Given the description of an element on the screen output the (x, y) to click on. 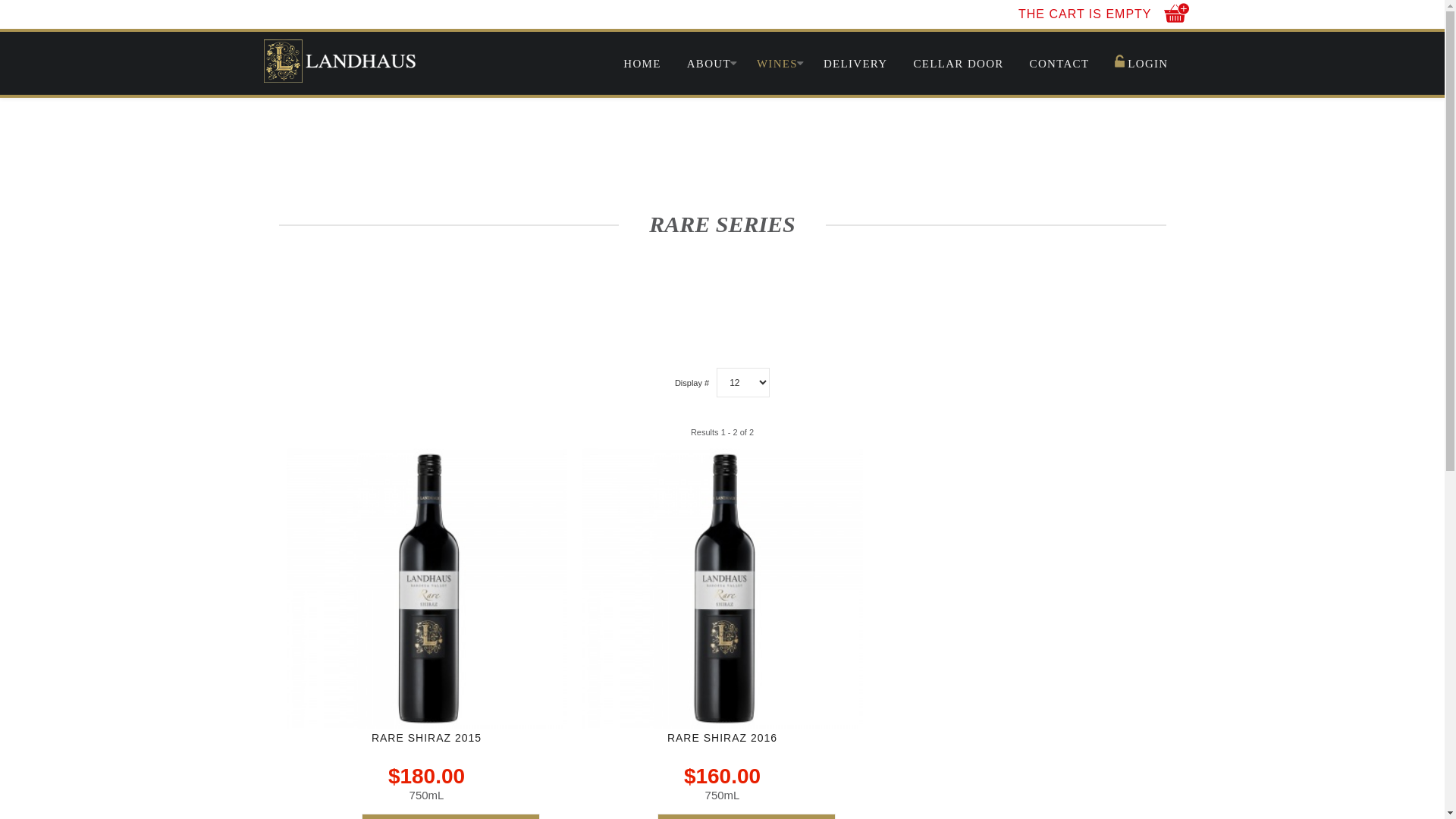
HOME Element type: text (648, 63)
Rare Shiraz 2016 Element type: hover (722, 588)
Rare Shiraz 2015 Element type: hover (426, 588)
RARE SHIRAZ 2015 Element type: text (426, 737)
RARE SHIRAZ 2016 Element type: text (722, 737)
CONTACT Element type: text (1059, 63)
DELIVERY Element type: text (855, 63)
ABOUT Element type: text (708, 63)
WINES Element type: text (776, 63)
LOGIN Element type: text (1140, 63)
CELLAR DOOR Element type: text (958, 63)
